Given the description of an element on the screen output the (x, y) to click on. 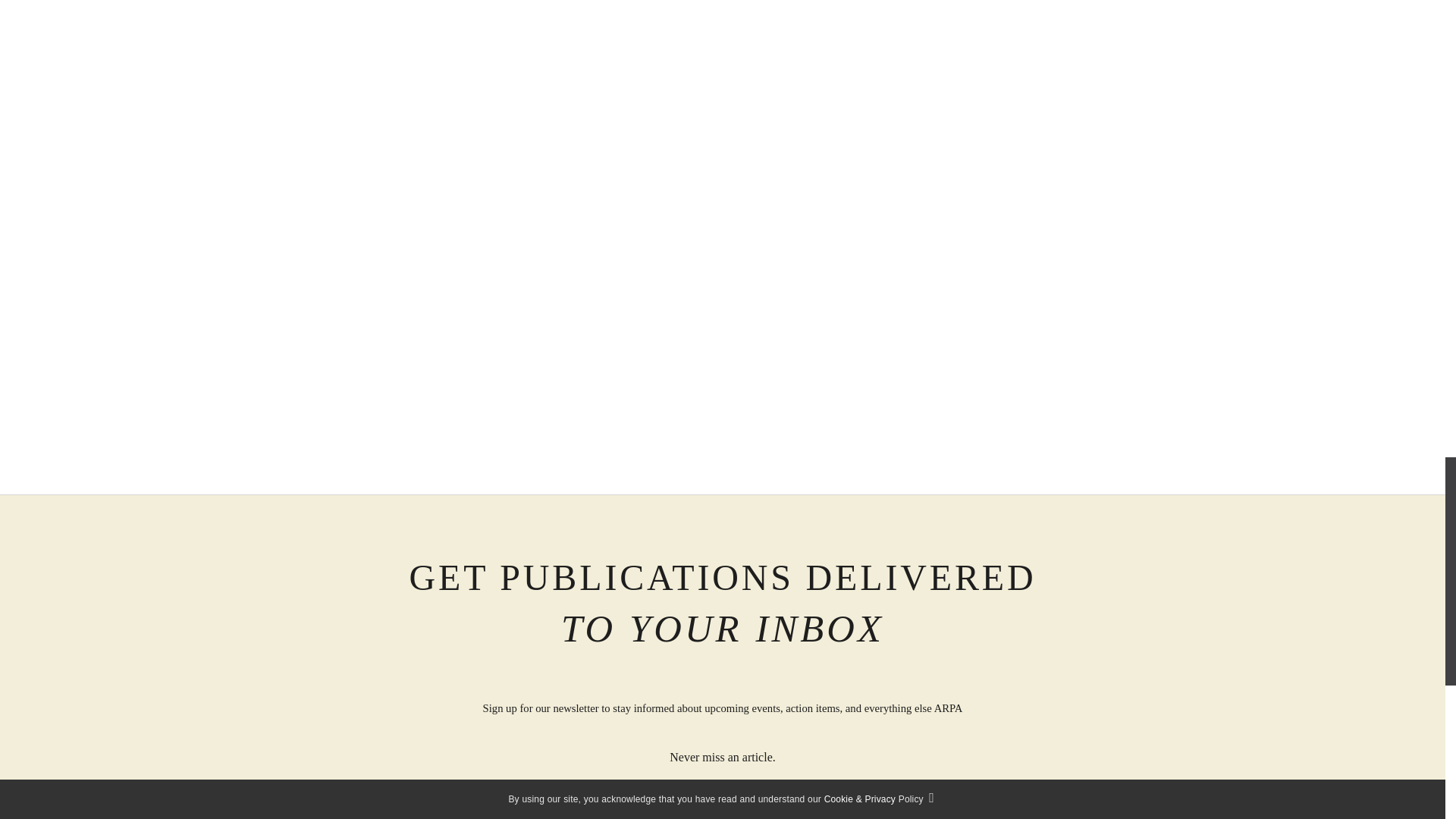
Subscribe (721, 807)
